Given the description of an element on the screen output the (x, y) to click on. 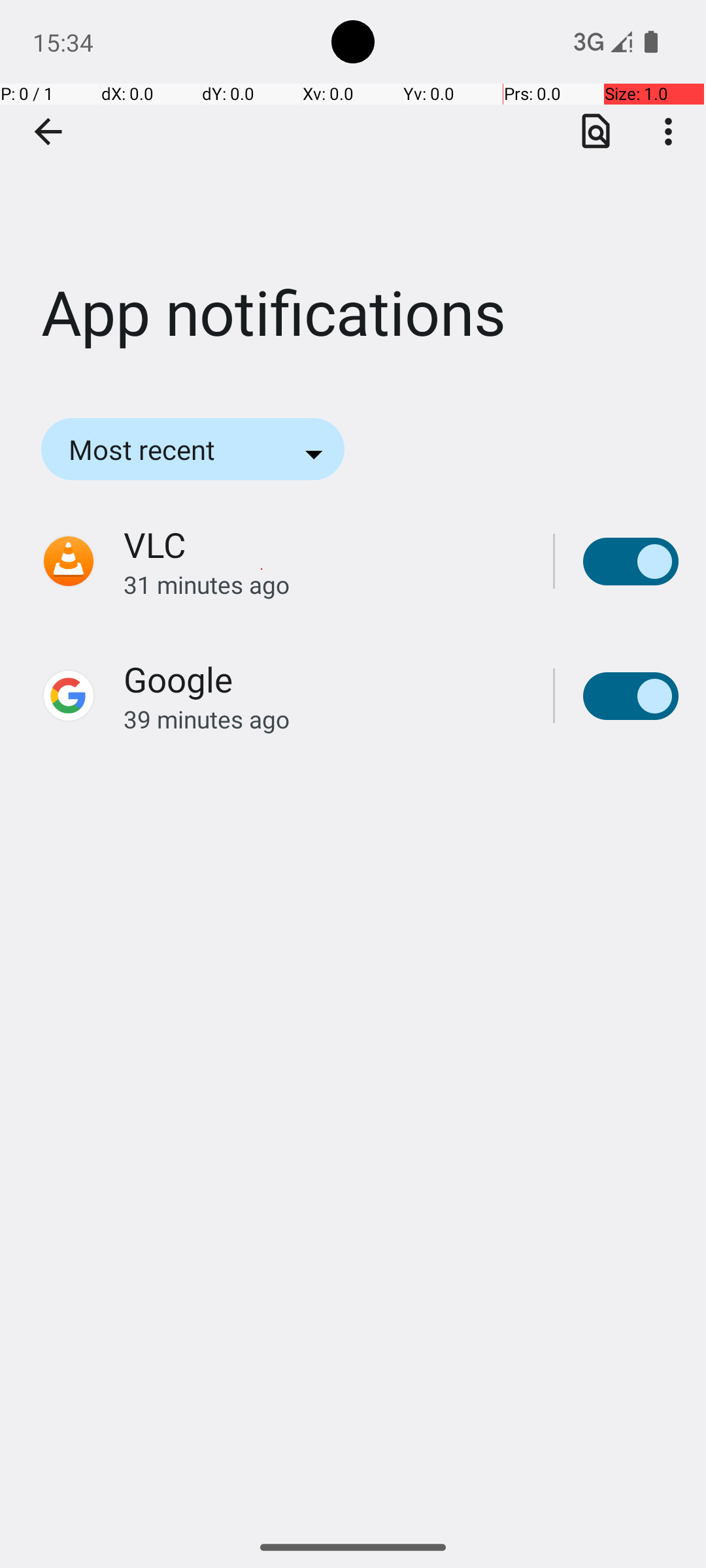
31 minutes ago Element type: android.widget.TextView (324, 584)
39 minutes ago Element type: android.widget.TextView (324, 718)
